Given the description of an element on the screen output the (x, y) to click on. 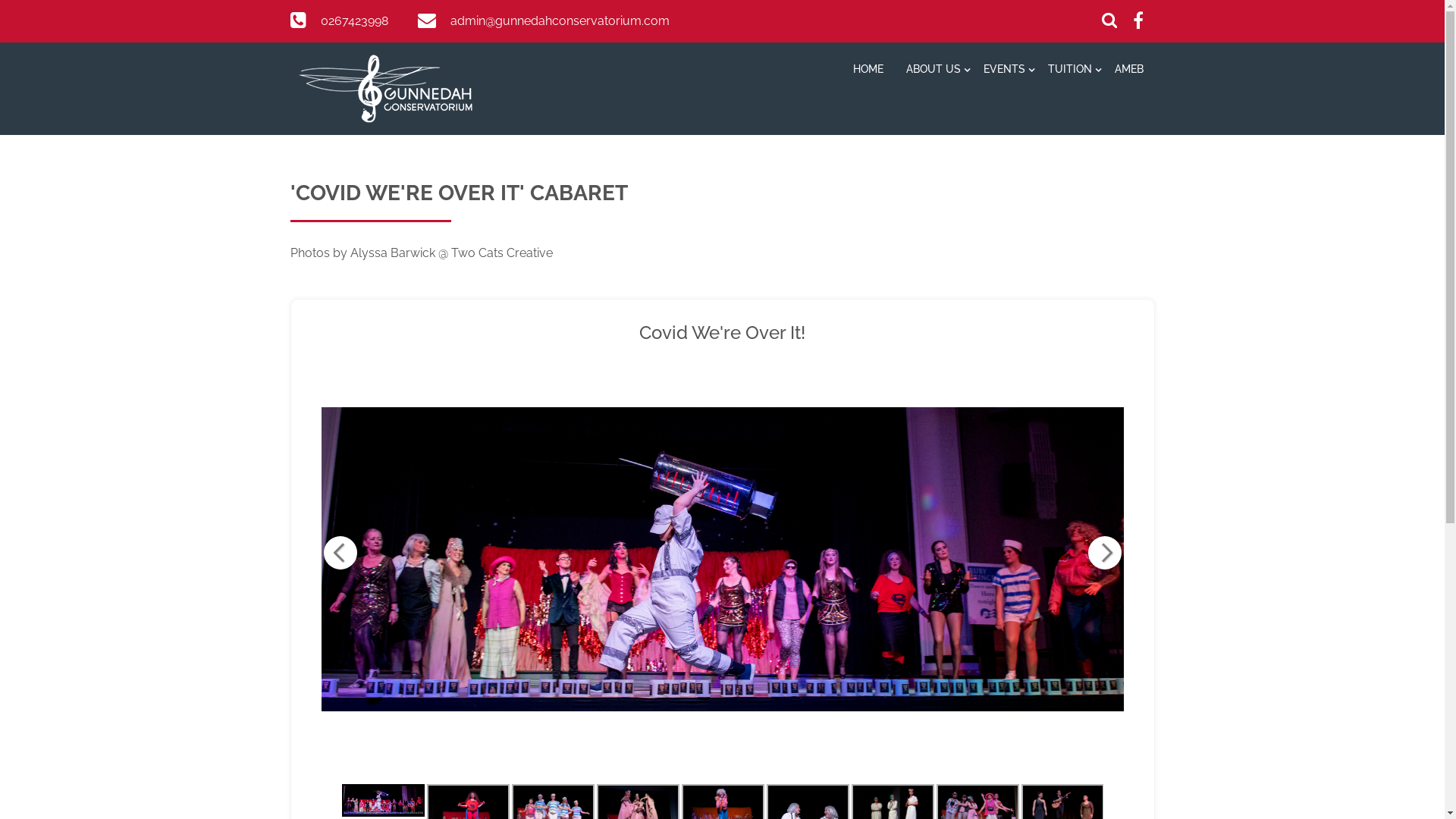
TUITION Element type: text (1068, 70)
Next Image Element type: text (1103, 552)
0267423998 Element type: text (353, 20)
AMEB Element type: text (1128, 70)
HOME Element type: text (867, 70)
admin@gunnedahconservatorium.com Element type: text (559, 20)
Previous Image Element type: text (339, 552)
ABOUT US Element type: text (933, 70)
EVENTS Element type: text (1004, 70)
